Given the description of an element on the screen output the (x, y) to click on. 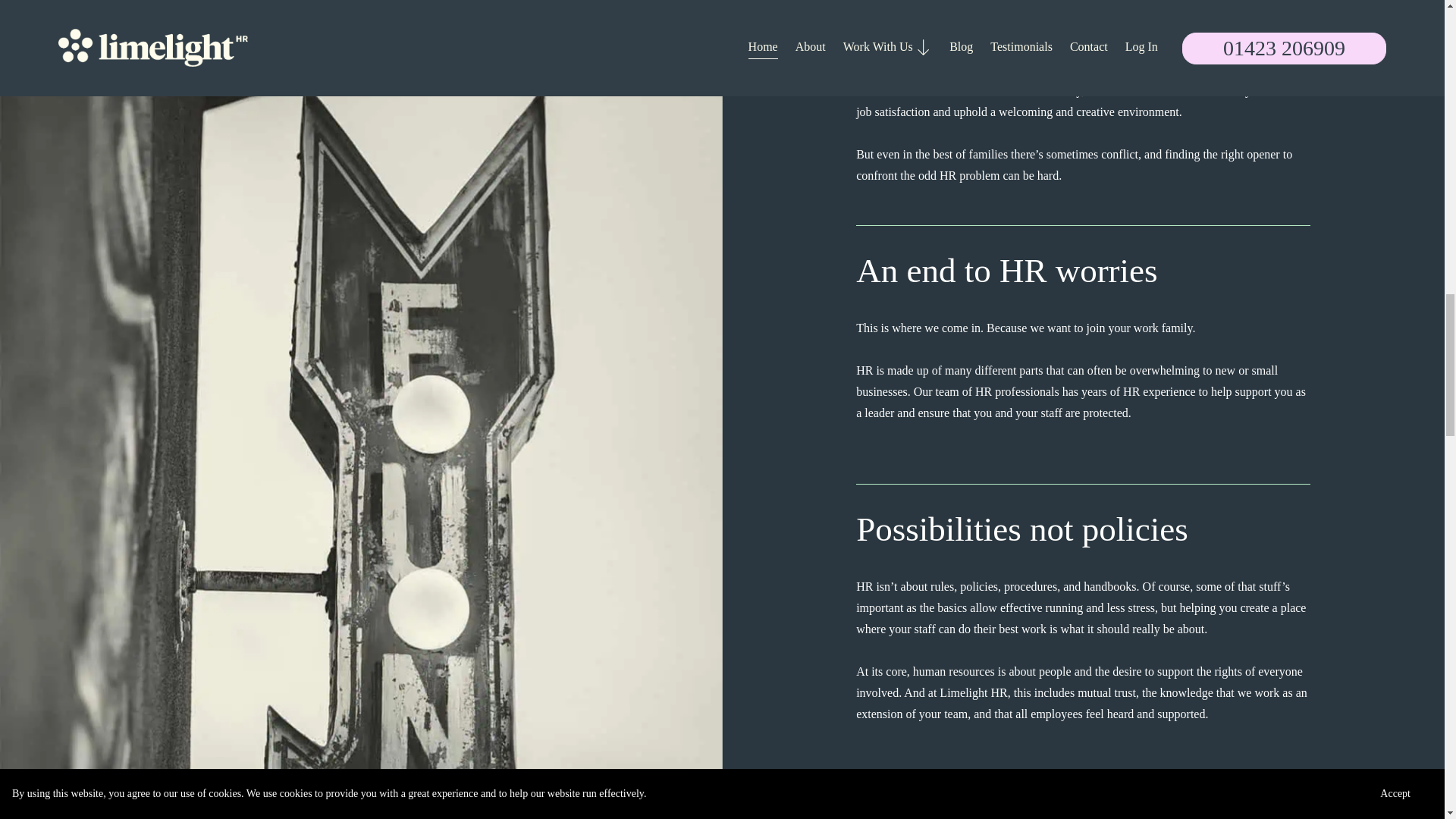
Get in touch (949, 810)
